Given the description of an element on the screen output the (x, y) to click on. 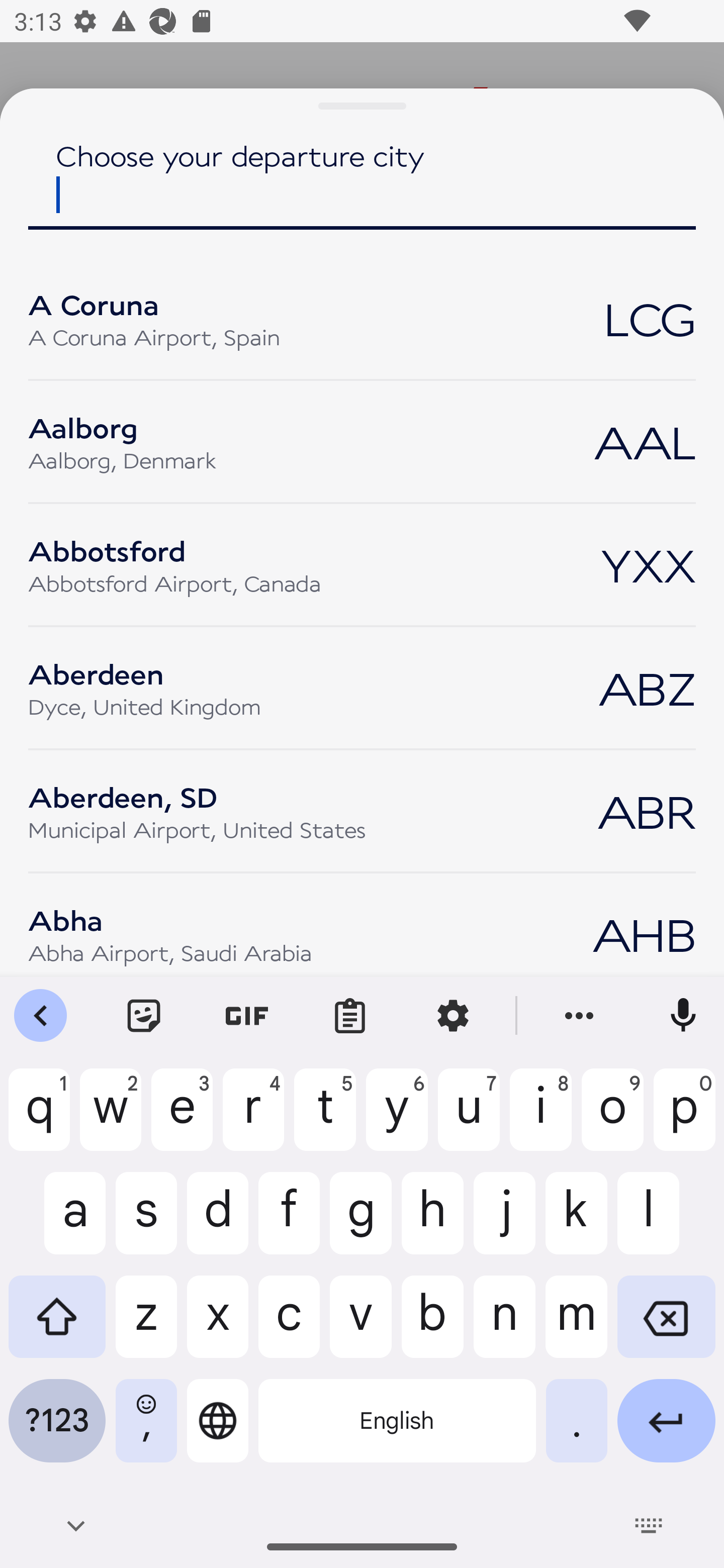
Choose your departure city (361, 190)
A Coruna A Coruna Airport, Spain LCG (361, 317)
Aalborg Aalborg, Denmark AAL (361, 441)
Abbotsford Abbotsford Airport, Canada YXX (361, 564)
Aberdeen Dyce, United Kingdom ABZ (361, 688)
Aberdeen, SD Municipal Airport, United States ABR (361, 810)
Abha Abha Airport, Saudi Arabia AHB (361, 934)
